Given the description of an element on the screen output the (x, y) to click on. 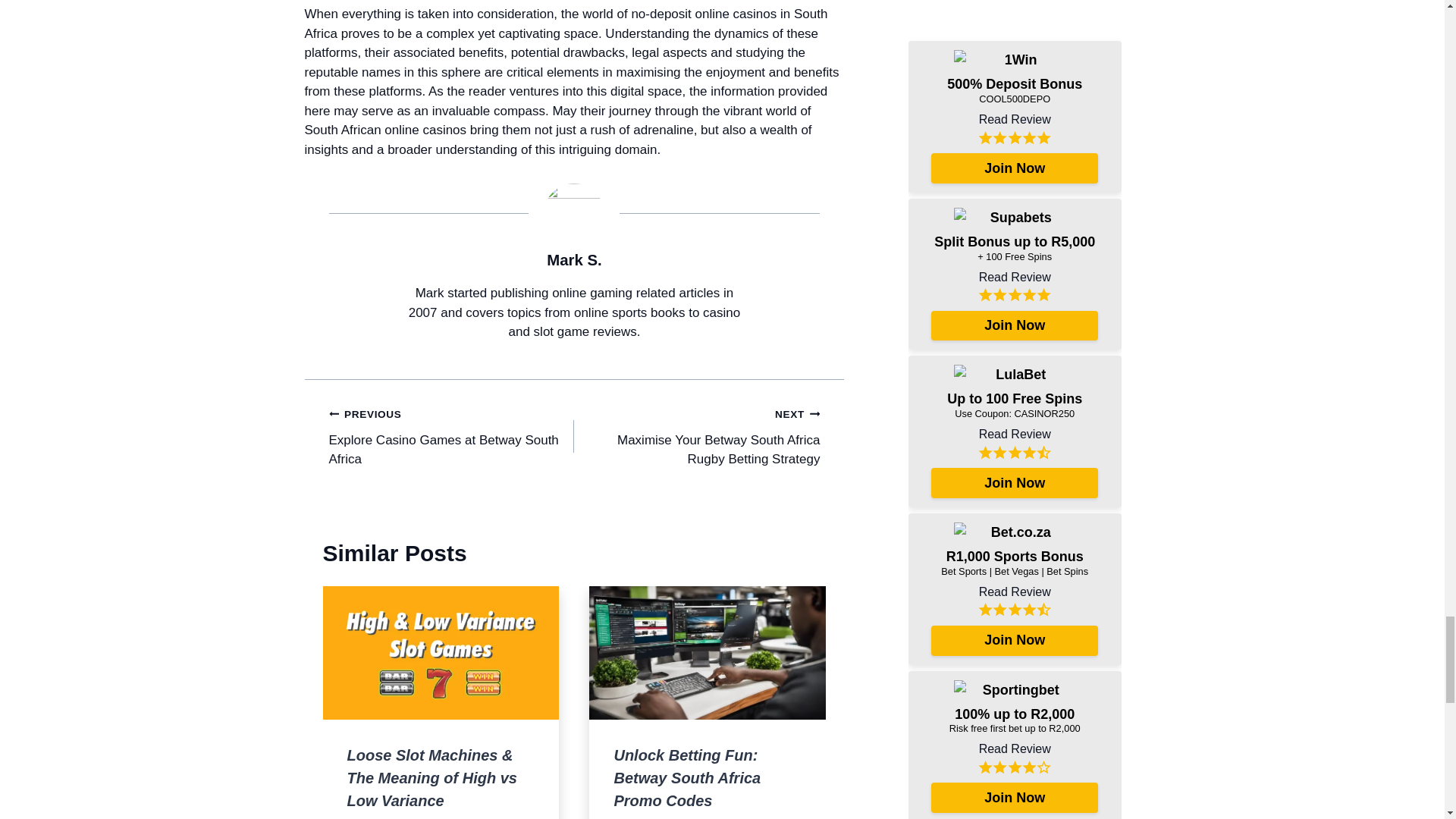
Posts by Mark S. (574, 259)
Unlock Betting Fun: Betway South Africa Promo Codes 10 (707, 652)
